Given the description of an element on the screen output the (x, y) to click on. 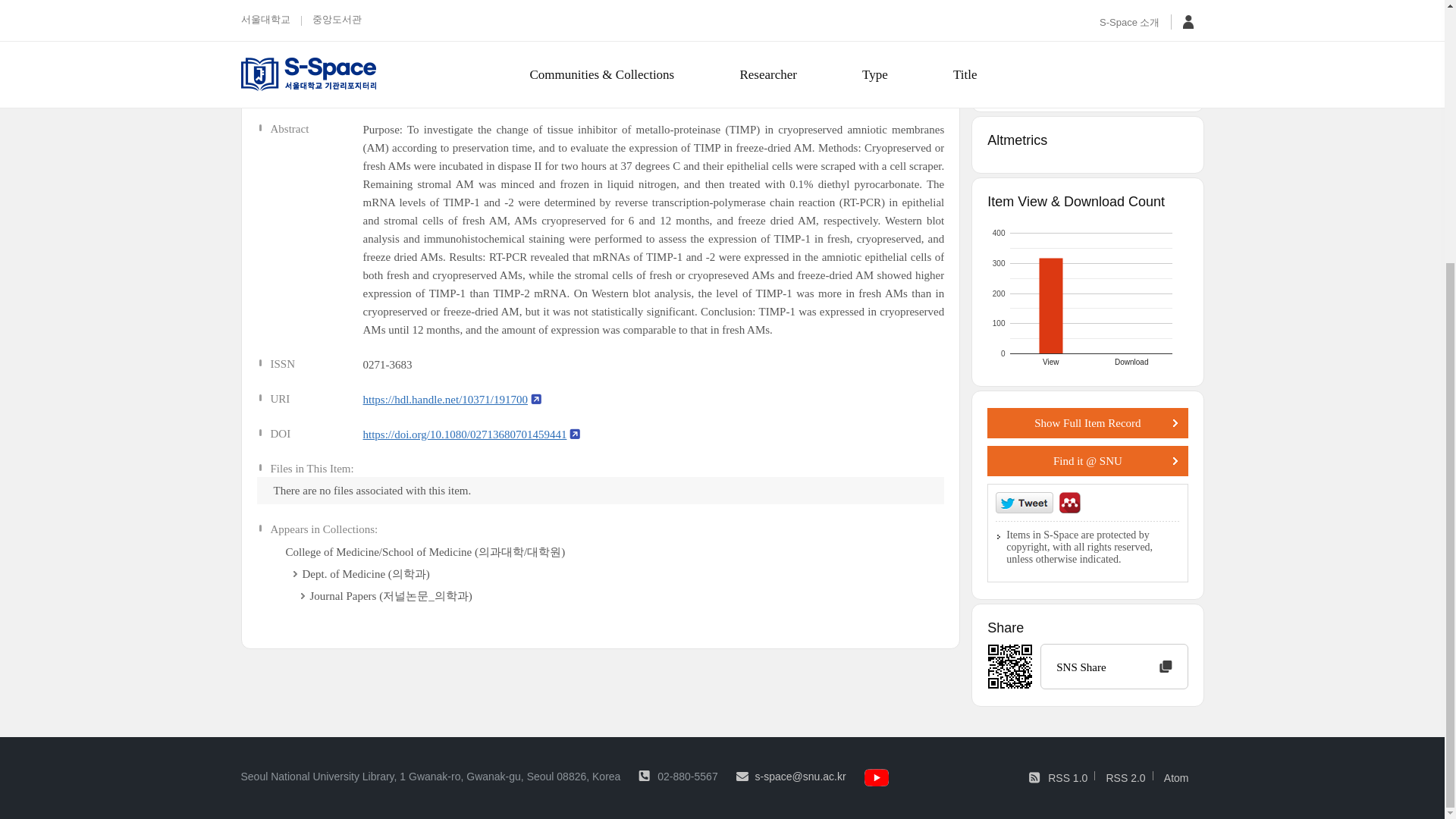
RSS 2.0 (1129, 778)
Atom (1179, 778)
RSS 1.0 (1071, 778)
Read More (1087, 293)
Show Full Item Record (1143, 80)
SNS Share (1087, 422)
Youtube (1114, 666)
